Given the description of an element on the screen output the (x, y) to click on. 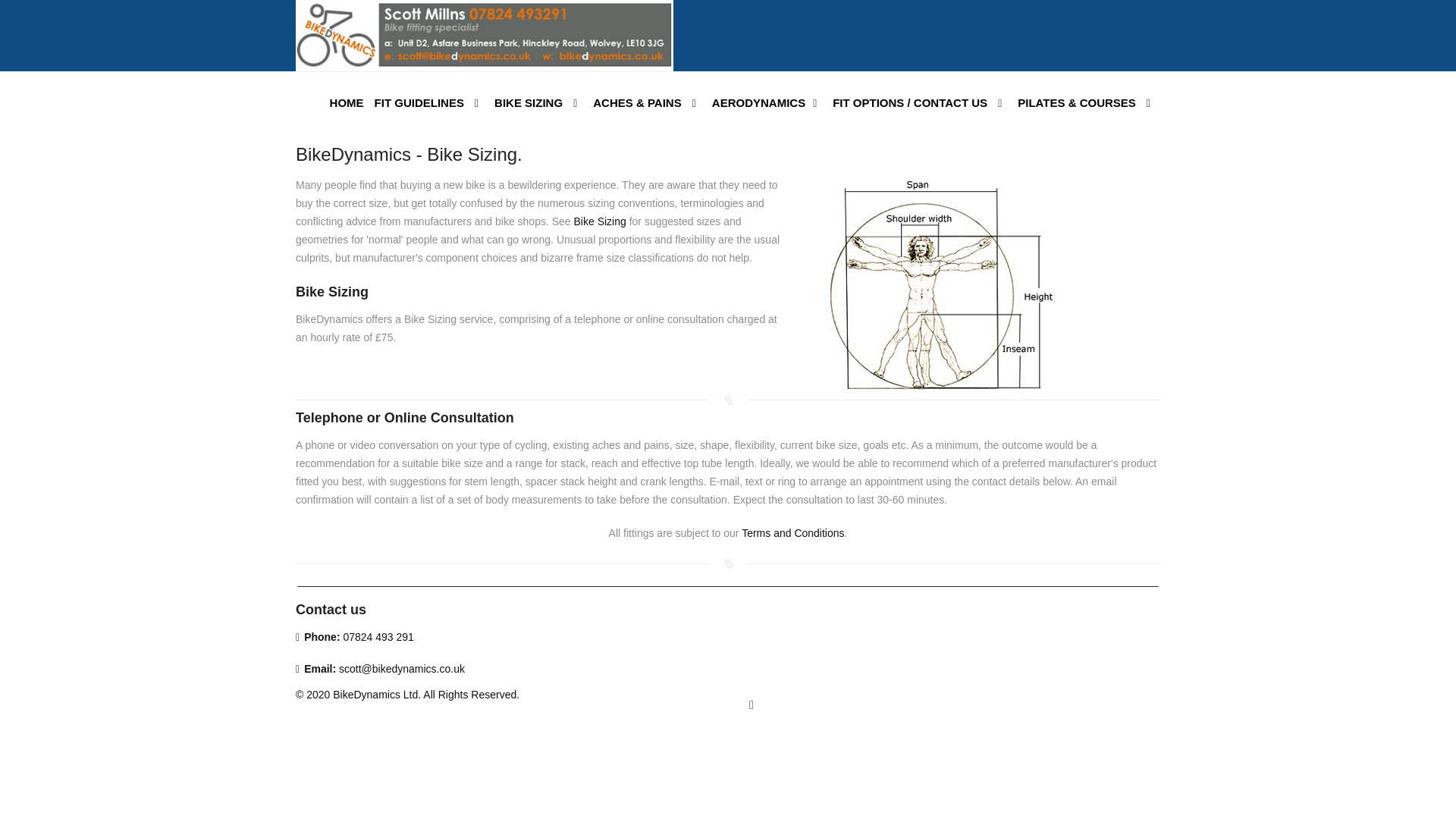
Bike Sizing (599, 221)
FIT GUIDELINES (429, 105)
Terms and Conditions (792, 532)
BIKE SIZING (537, 105)
AERODYNAMICS (767, 105)
